Given the description of an element on the screen output the (x, y) to click on. 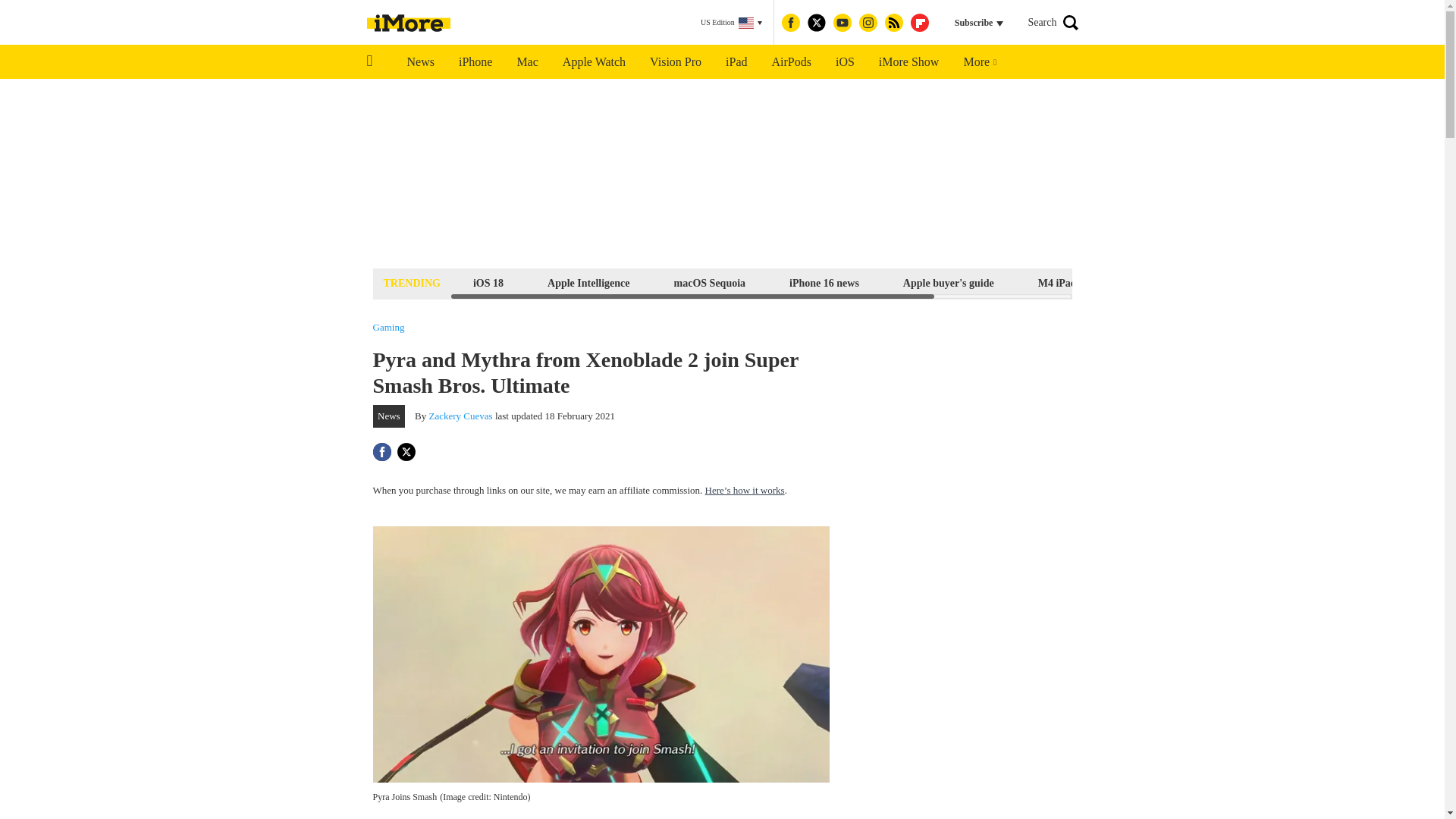
AirPods (792, 61)
News (419, 61)
Mac (526, 61)
iPad (735, 61)
Vision Pro (675, 61)
US Edition (731, 22)
iOS (845, 61)
iPhone (474, 61)
Apple Watch (593, 61)
iMore Show (909, 61)
